Given the description of an element on the screen output the (x, y) to click on. 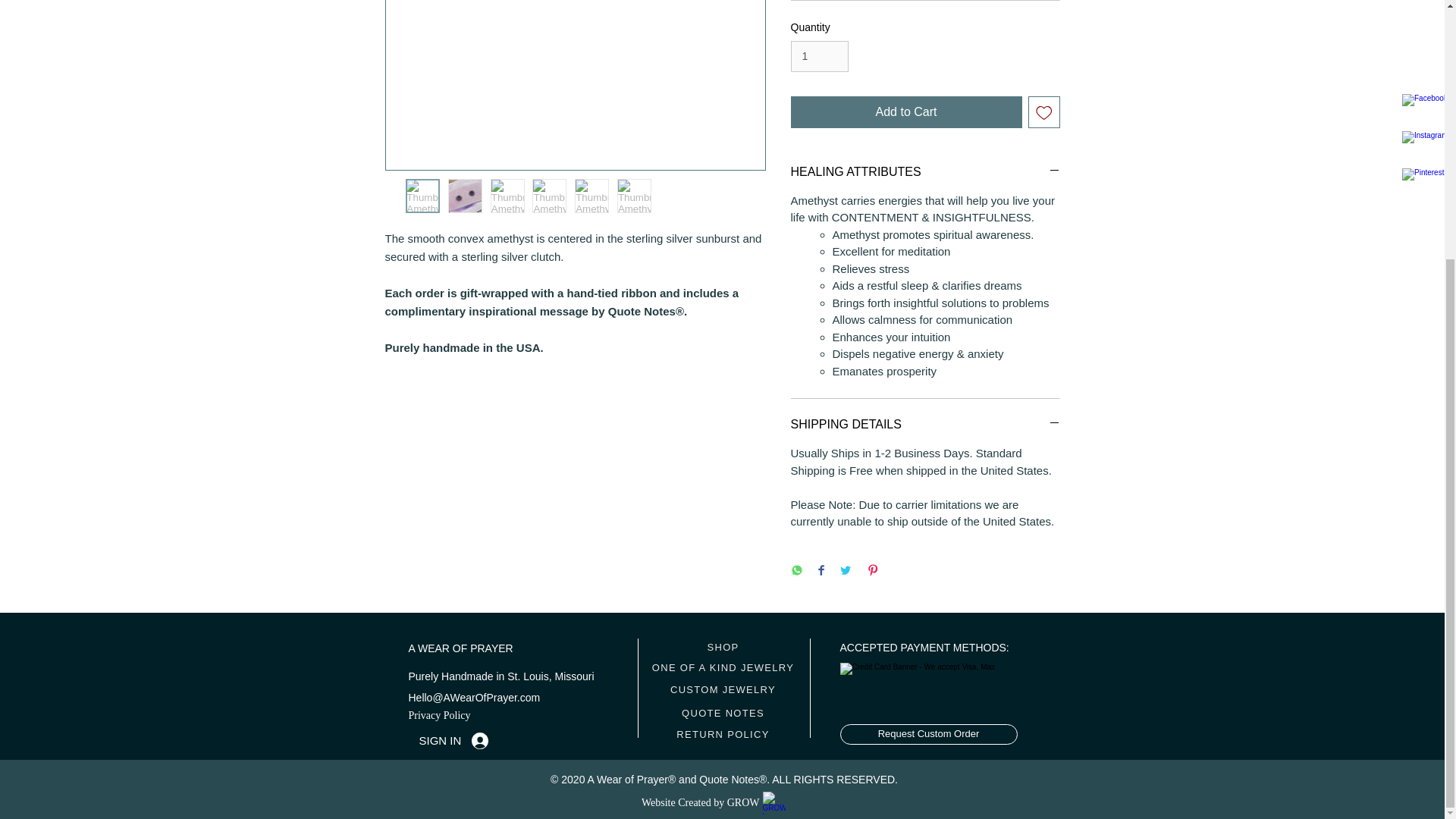
ONE OF A KIND JEWELRY (723, 667)
SHOP (723, 647)
Website Created by GROW (701, 801)
HEALING ATTRIBUTES (924, 171)
QUOTE NOTES (723, 712)
Add to Cart (906, 111)
Request Custom Order (928, 733)
Privacy Policy (438, 715)
CUSTOM JEWELRY (723, 689)
A WEAR OF PRAYER (459, 648)
